Given the description of an element on the screen output the (x, y) to click on. 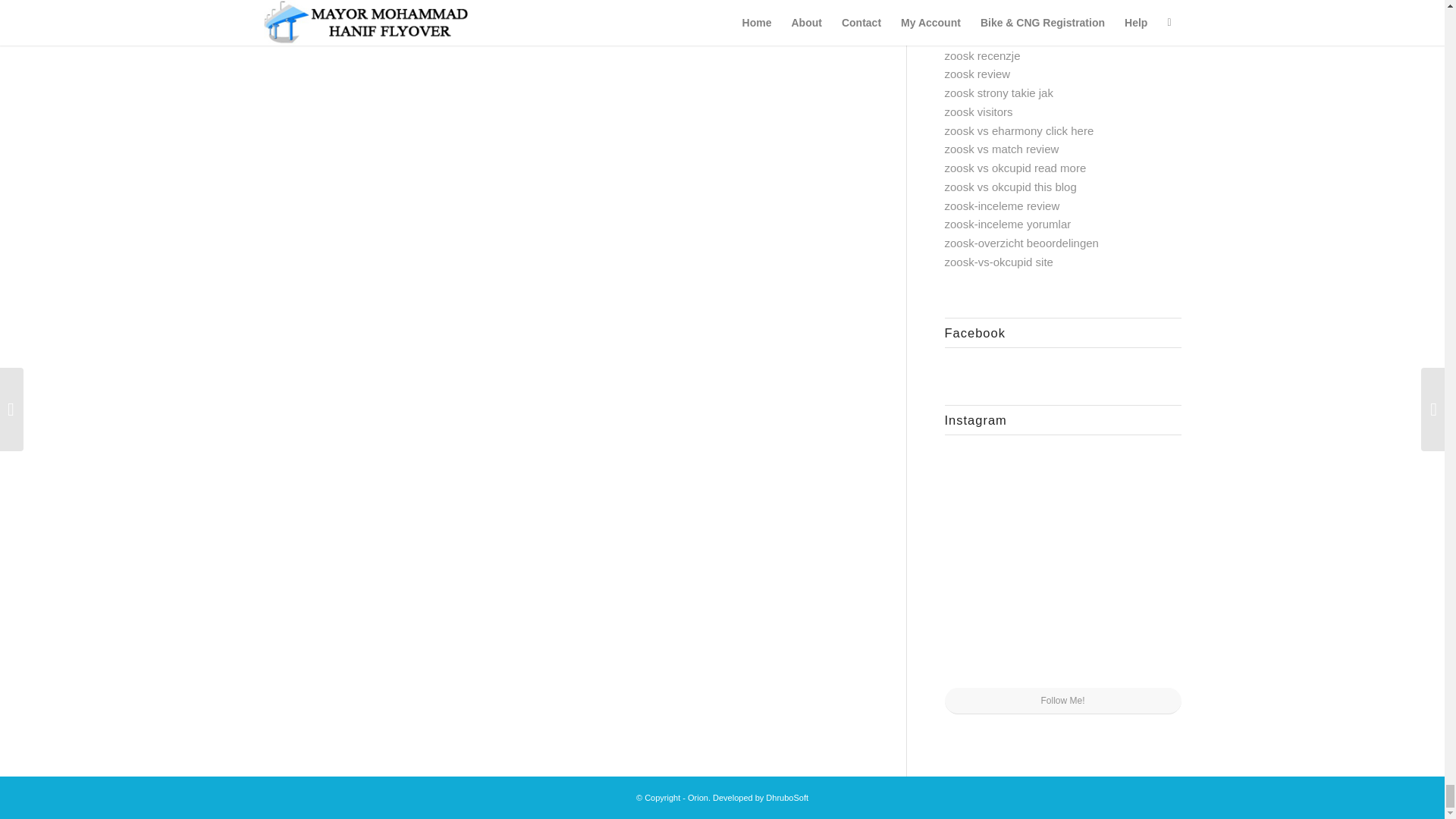
Instagram Image (1141, 484)
